Given the description of an element on the screen output the (x, y) to click on. 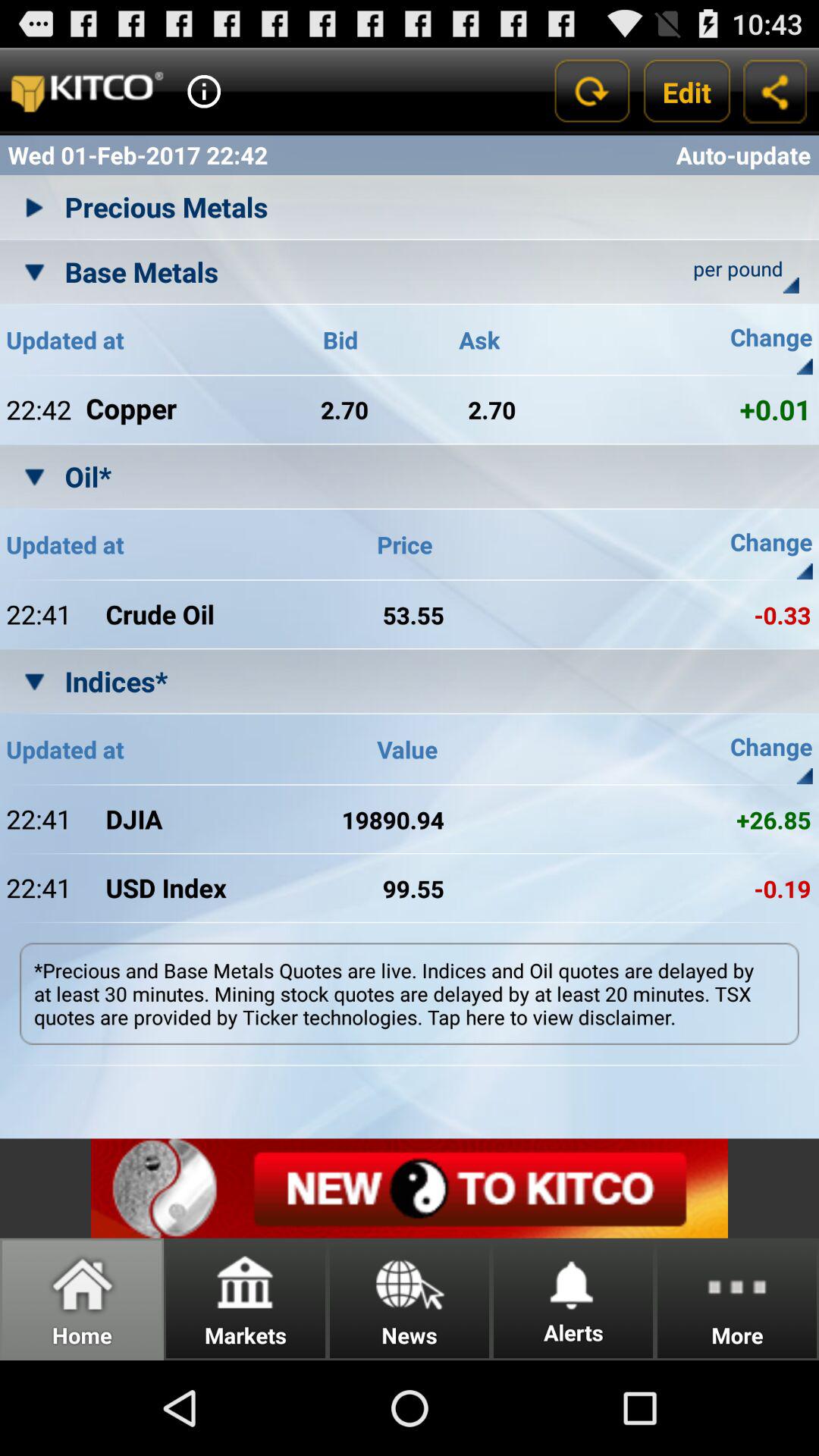
refresh page (591, 91)
